Given the description of an element on the screen output the (x, y) to click on. 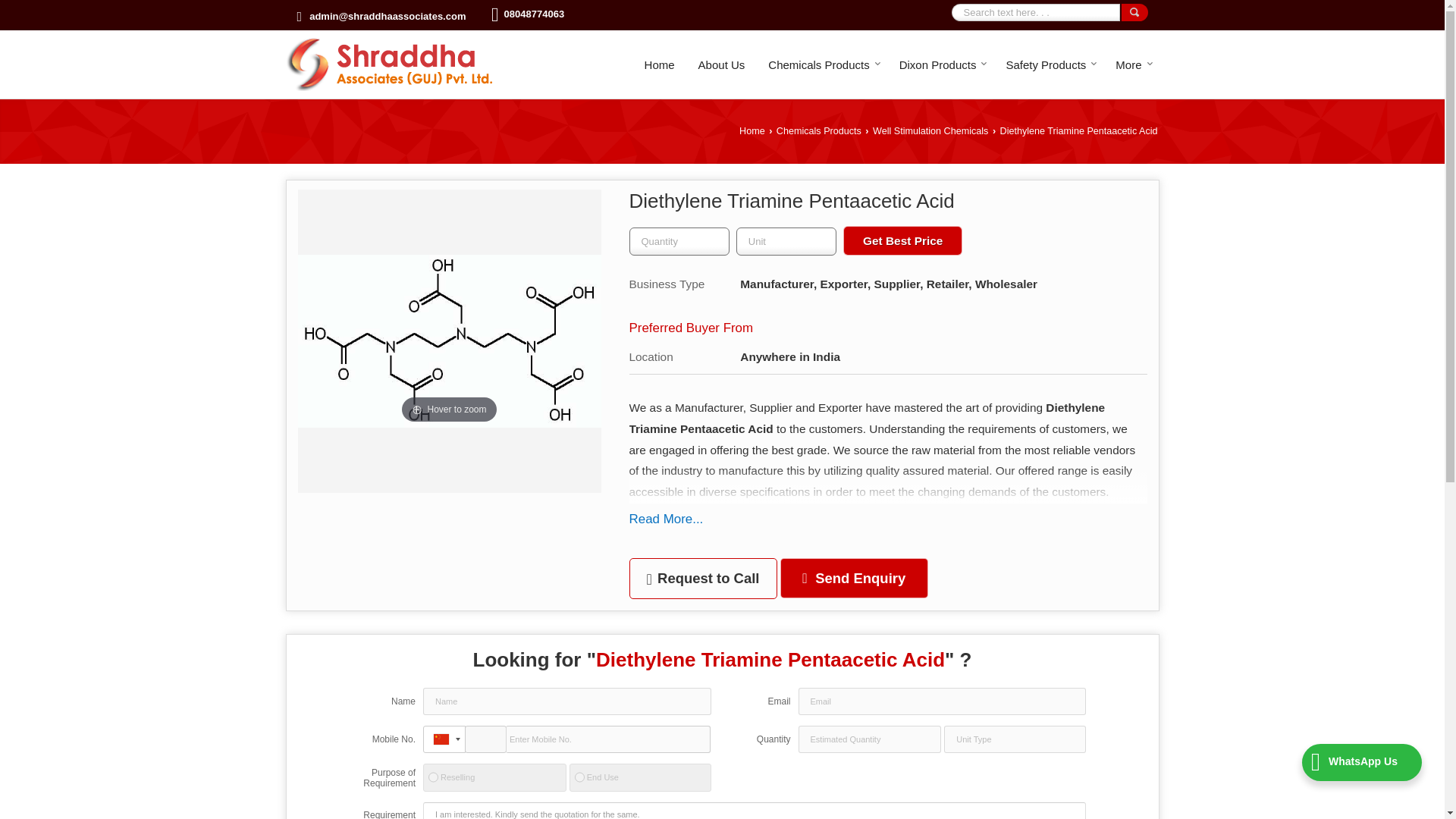
Chemicals Products (821, 63)
Home (659, 63)
About Us (722, 63)
Search text here. . . (1034, 12)
Home (659, 63)
Chemicals Products (821, 63)
About Us (722, 63)
